Given the description of an element on the screen output the (x, y) to click on. 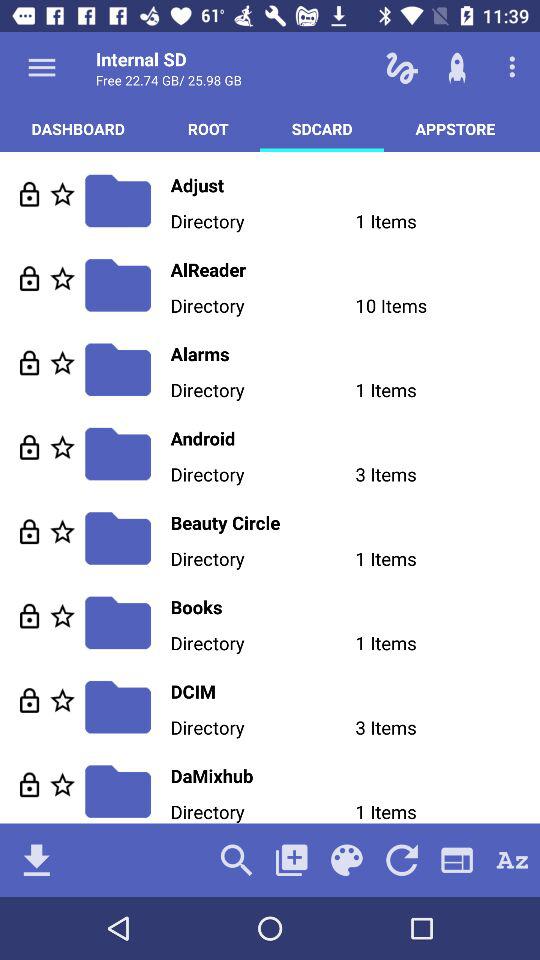
go to star (62, 531)
